Given the description of an element on the screen output the (x, y) to click on. 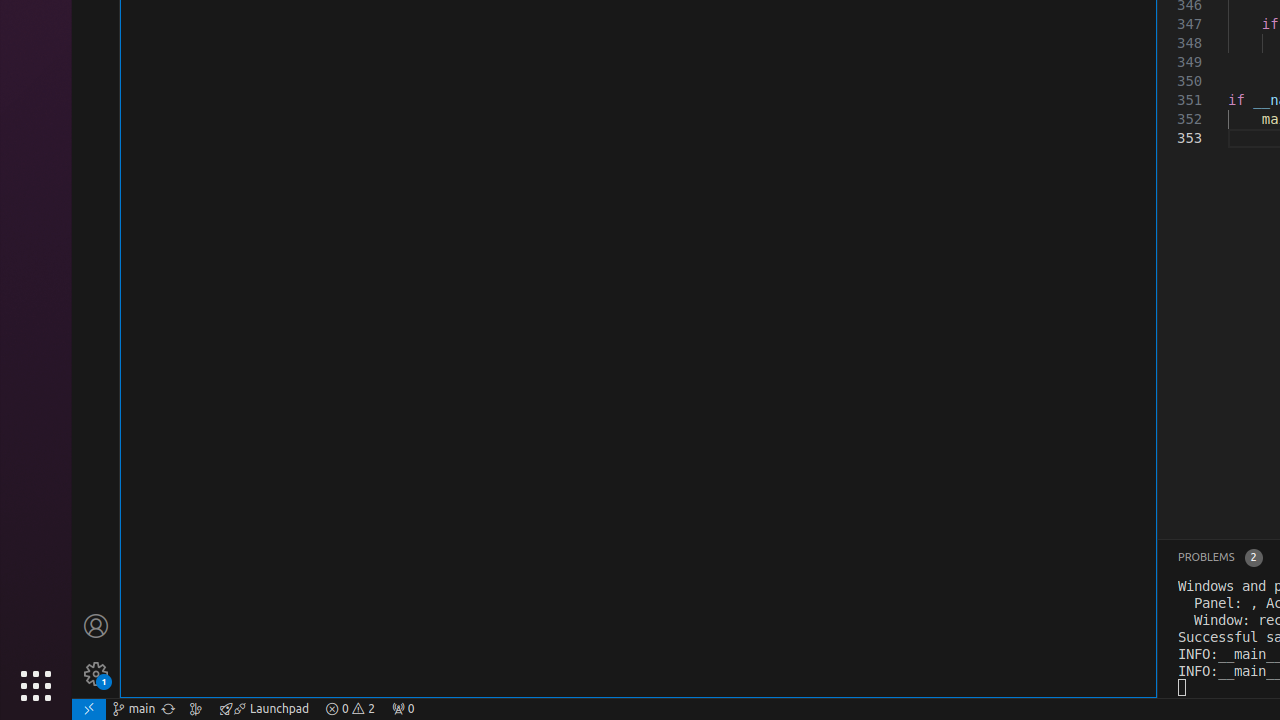
rocket gitlens-unplug Launchpad, GitLens Launchpad ᴘʀᴇᴠɪᴇᴡ    &mdash;    [$(question)](command:gitlens.launchpad.indicator.action?%22info%22 "What is this?") [$(gear)](command:workbench.action.openSettings?%22gitlens.launchpad%22 "Settings")  |  [$(circle-slash) Hide](command:gitlens.launchpad.indicator.action?%22hide%22 "Hide") --- [Launchpad](command:gitlens.launchpad.indicator.action?%info%22 "Learn about Launchpad") organizes your pull requests into actionable groups to help you focus and keep your team unblocked. It's always accessible using the `GitLens: Open Launchpad` command from the Command Palette. --- [Connect an integration](command:gitlens.showLaunchpad?%7B%22source%22%3A%22launchpad-indicator%22%7D "Connect an integration") to get started. Element type: push-button (264, 709)
OSWorld (Git) - main, Checkout Branch/Tag... Element type: push-button (134, 709)
remote Element type: push-button (89, 709)
OSWorld (Git) - Synchronize Changes Element type: push-button (168, 709)
